Given the description of an element on the screen output the (x, y) to click on. 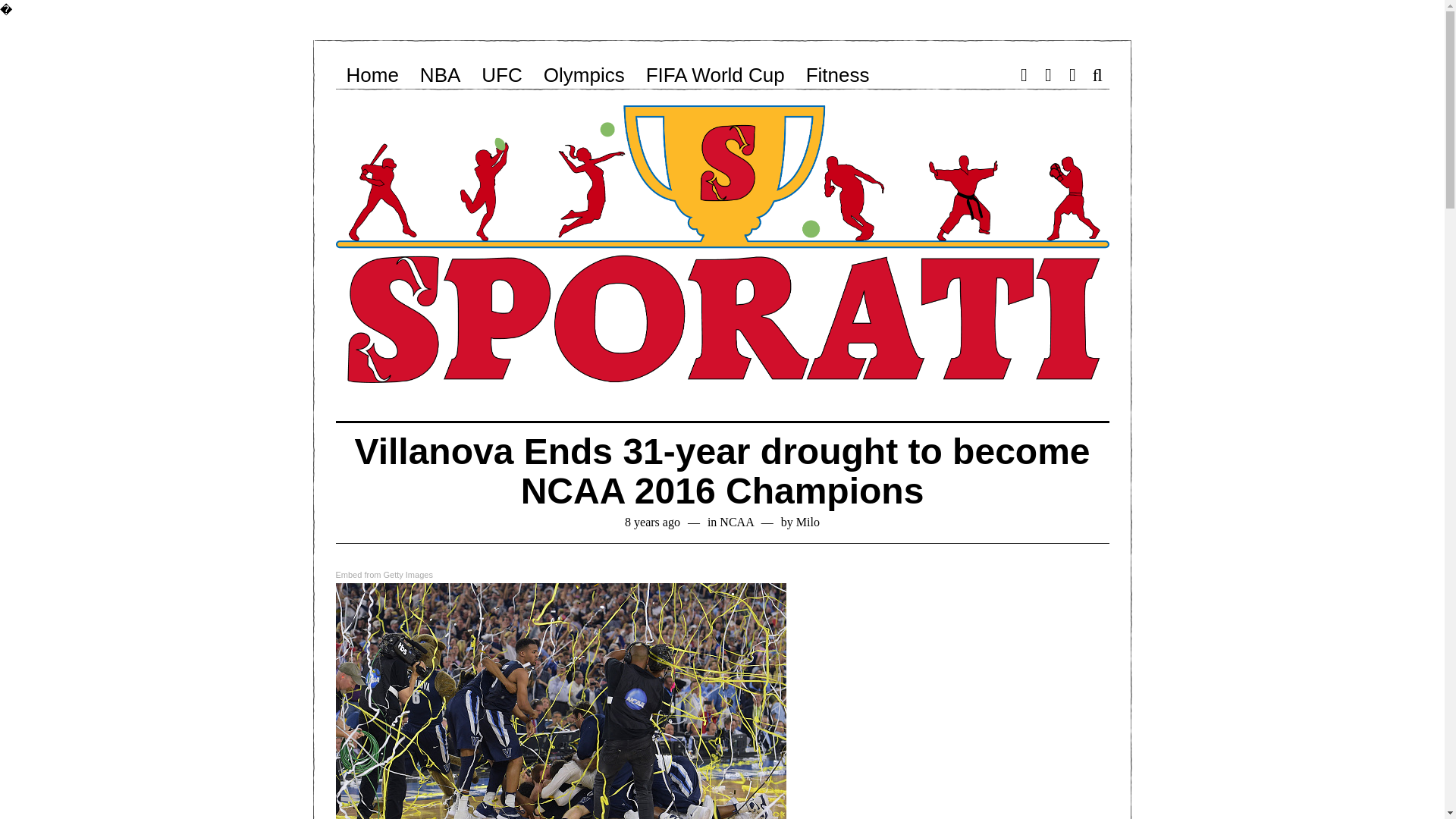
Embed from Getty Images (383, 575)
FIFA World Cup (714, 74)
Fitness (837, 74)
UFC (501, 74)
Olympics (583, 74)
Milo (807, 521)
Home (371, 74)
NCAA (735, 521)
NBA (439, 74)
